Given the description of an element on the screen output the (x, y) to click on. 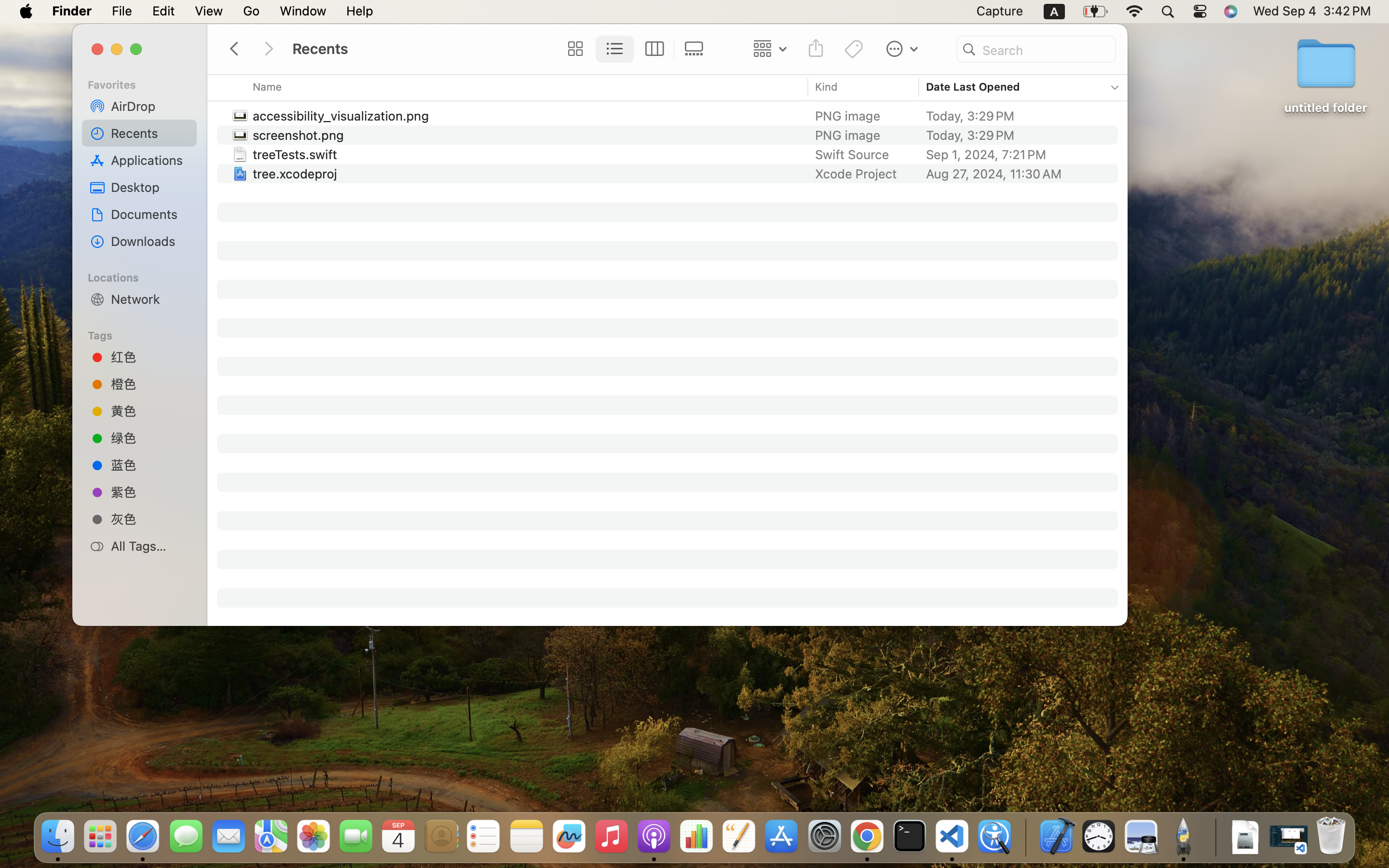
Documents Element type: AXStaticText (149, 213)
Applications Element type: AXStaticText (149, 159)
黄色 Element type: AXStaticText (149, 410)
Tags Element type: AXStaticText (144, 334)
tree.xcodeproj Element type: AXTextField (296, 173)
